Given the description of an element on the screen output the (x, y) to click on. 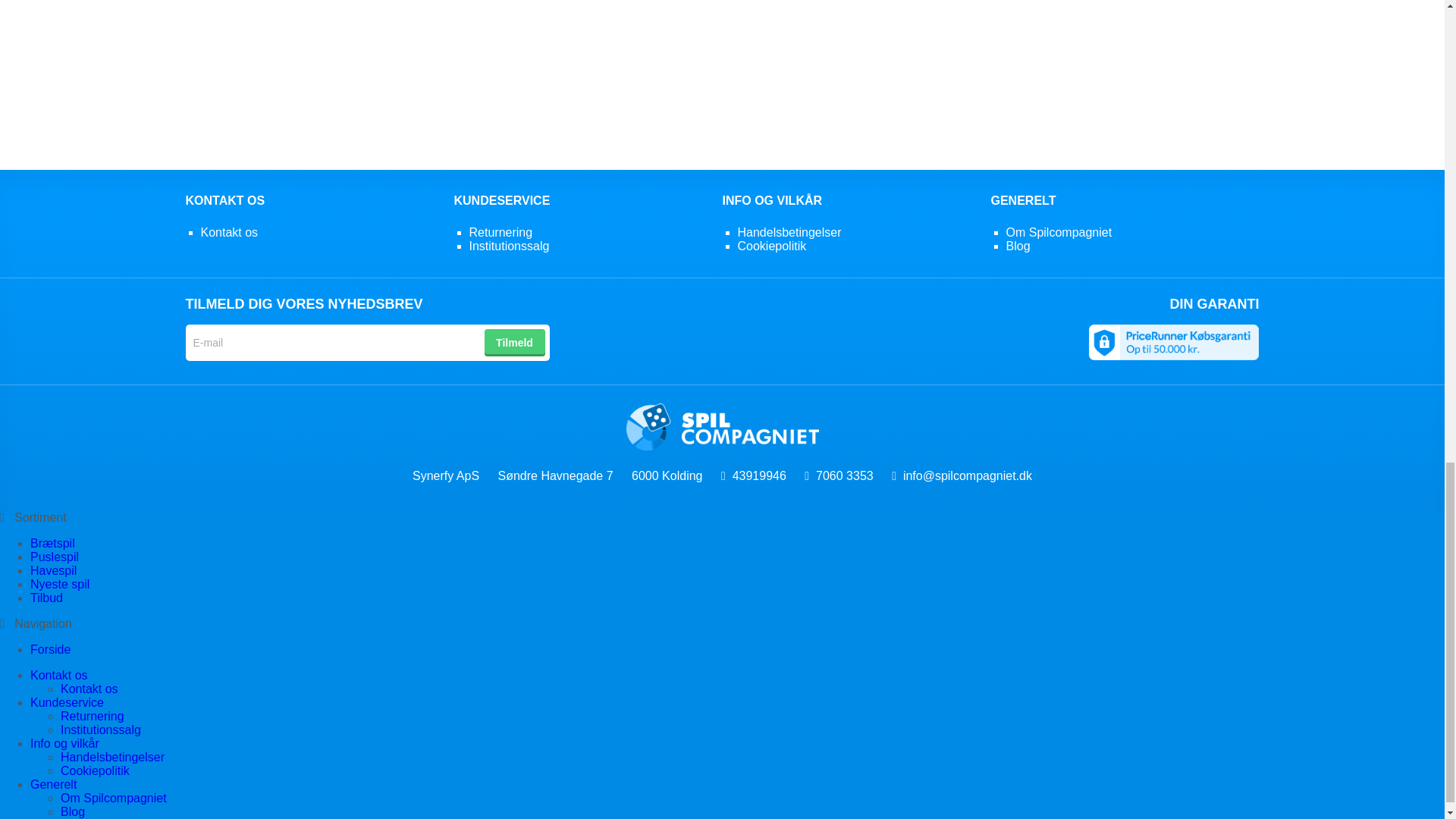
Institutionssalg (508, 245)
Om Spilcompagniet (1059, 232)
Kundeservice (66, 702)
Kontakt os (228, 232)
Havespil (53, 570)
Blog (1017, 245)
Puslespil (54, 556)
Tilmeld (513, 342)
Cookiepolitik (95, 770)
Returnering (92, 716)
KUNDESERVICE (501, 200)
Nyeste spil (59, 584)
Tilbud (46, 597)
KONTAKT OS (224, 200)
Kontakt os (89, 688)
